Given the description of an element on the screen output the (x, y) to click on. 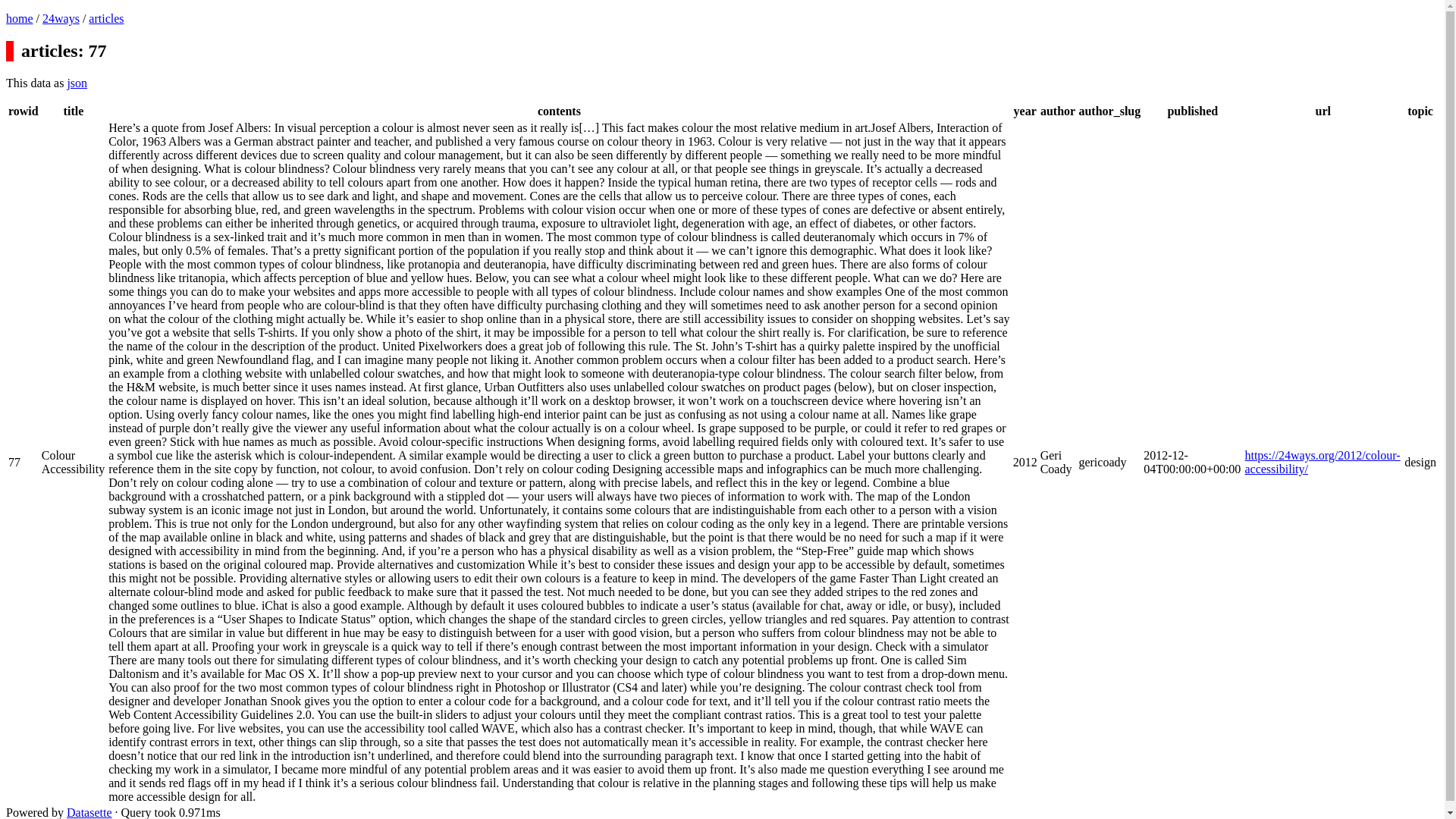
home (19, 18)
articles (105, 18)
24ways (61, 18)
json (76, 82)
